Given the description of an element on the screen output the (x, y) to click on. 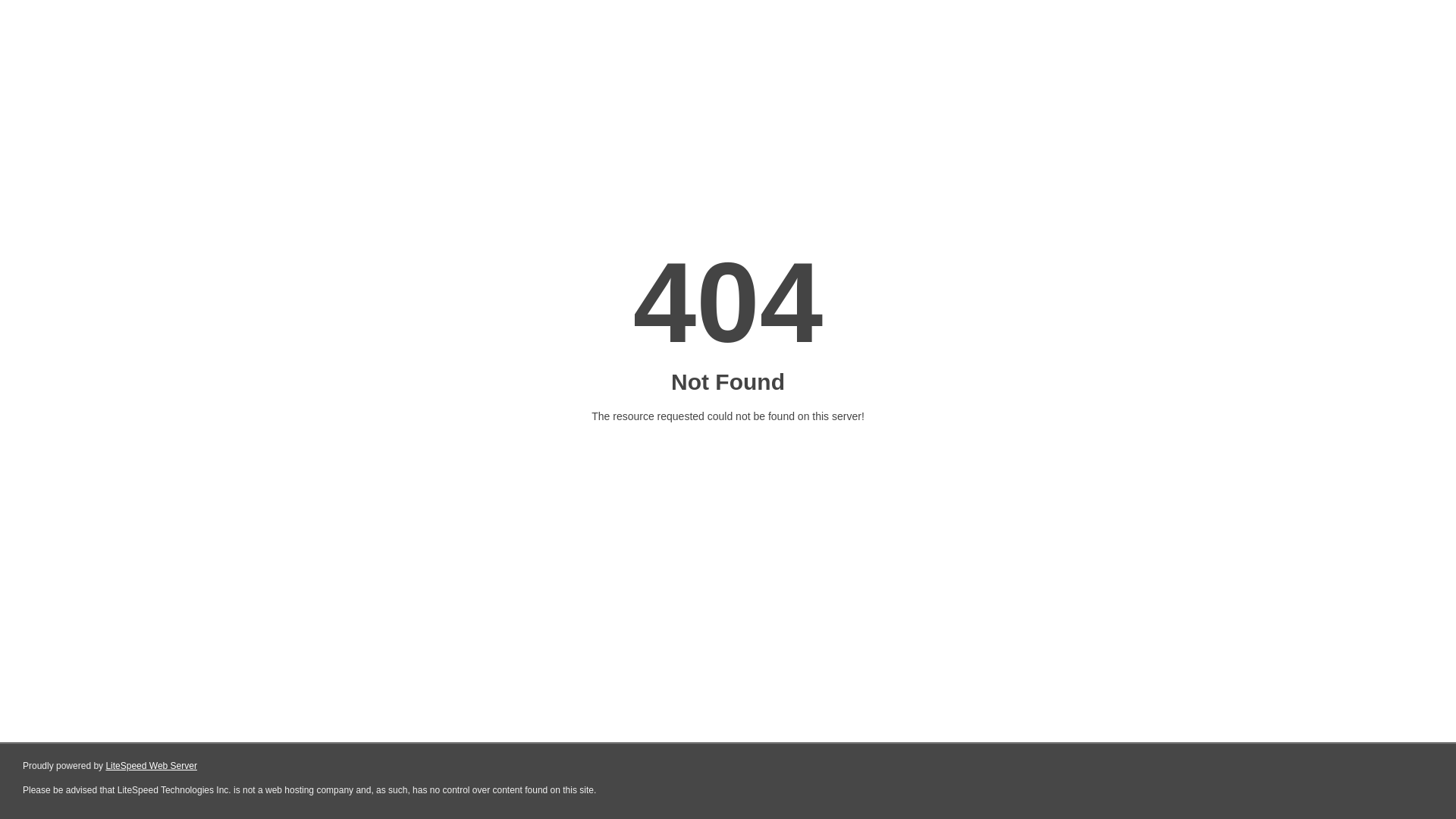
LiteSpeed Web Server Element type: text (151, 765)
